Given the description of an element on the screen output the (x, y) to click on. 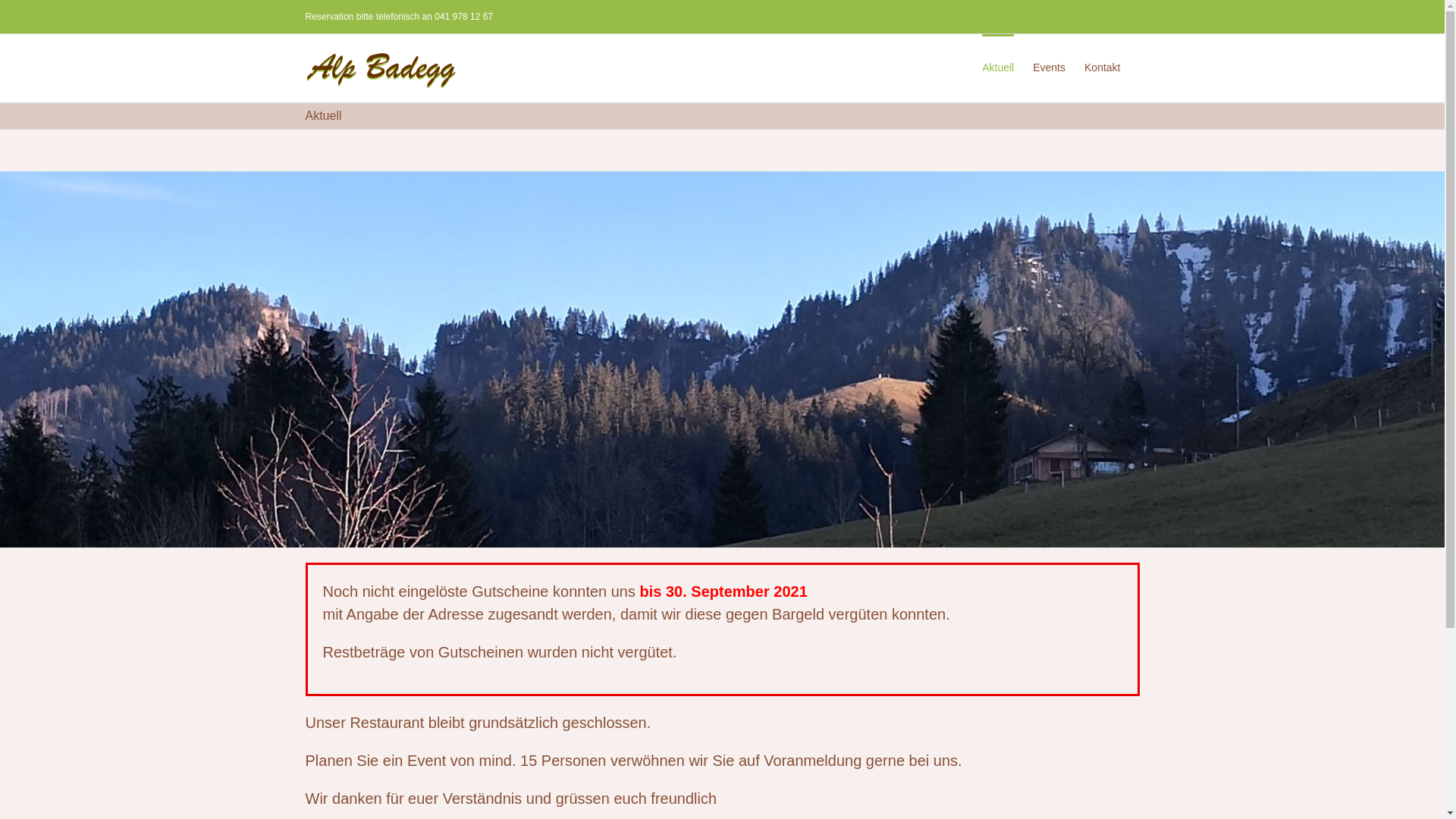
Events Element type: text (1048, 65)
Kontakt Element type: text (1102, 65)
Aktuell Element type: text (997, 65)
